Given the description of an element on the screen output the (x, y) to click on. 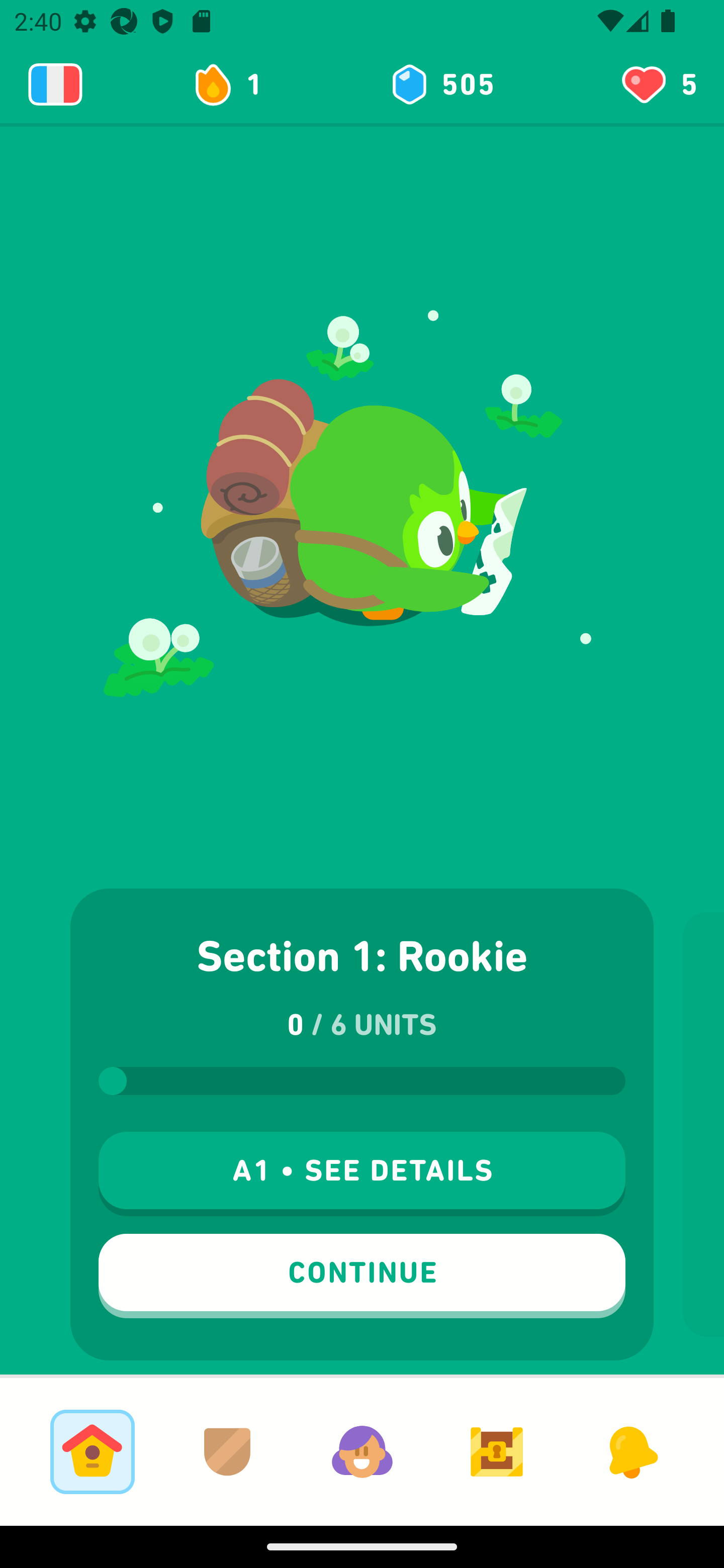
Learning 2131888976 (55, 84)
1 day streak 1 (236, 84)
505 (441, 84)
You have 5 hearts left 5 (657, 84)
A1 • SEE DETAILS (361, 1174)
CONTINUE (361, 1276)
Learn Tab (91, 1451)
Leagues Tab (227, 1451)
Profile Tab (361, 1451)
Goals Tab (496, 1451)
News Tab (631, 1451)
